Given the description of an element on the screen output the (x, y) to click on. 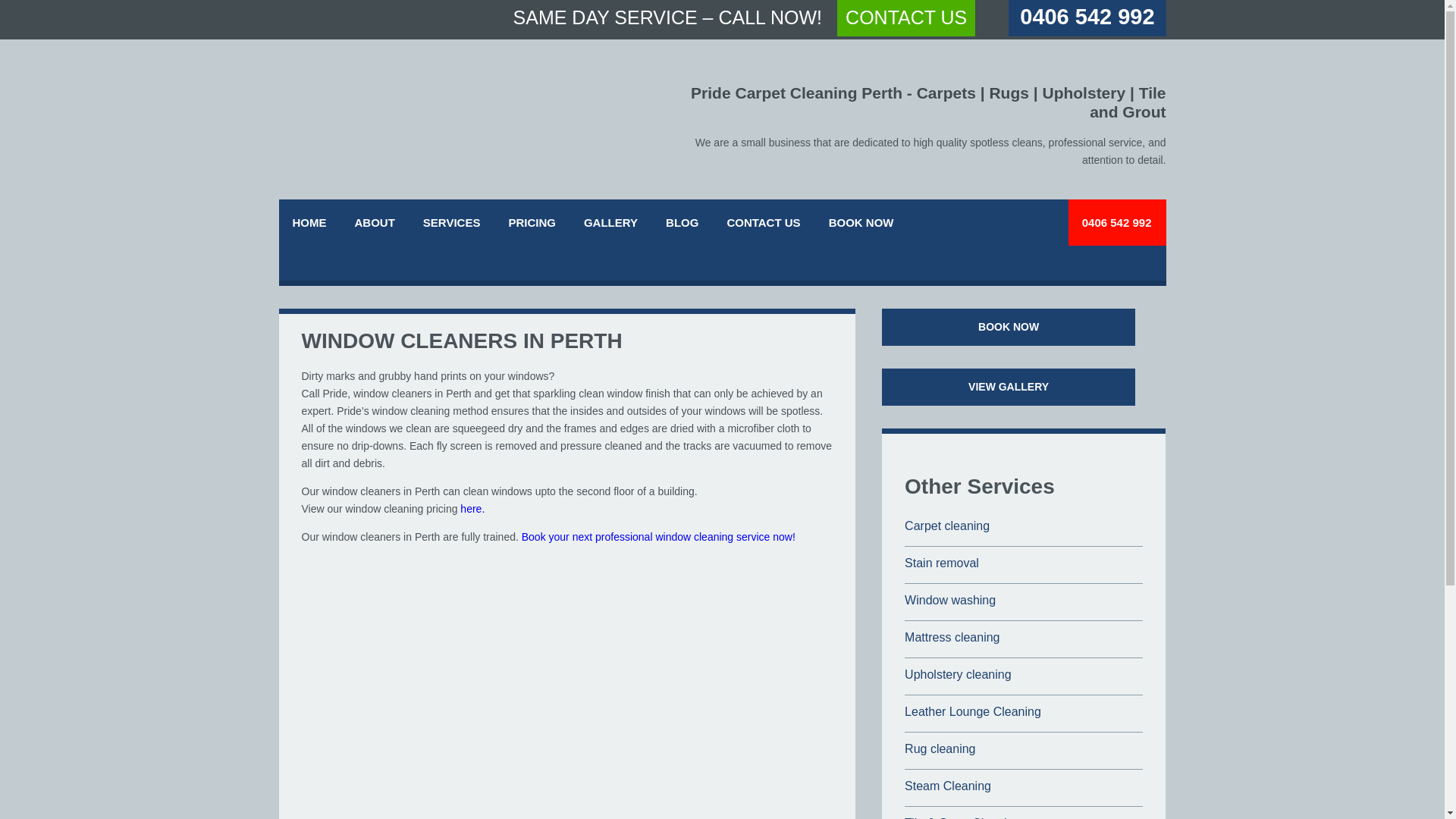
BOOK NOW (1008, 326)
SERVICES (452, 222)
GALLERY (610, 222)
Mattress cleaning (951, 636)
Book your next professional window cleaning service now! (657, 536)
BOOK NOW (861, 222)
VIEW GALLERY (1008, 386)
ABOUT (374, 222)
Carpets (946, 92)
Upholstery cleaning (957, 674)
